Given the description of an element on the screen output the (x, y) to click on. 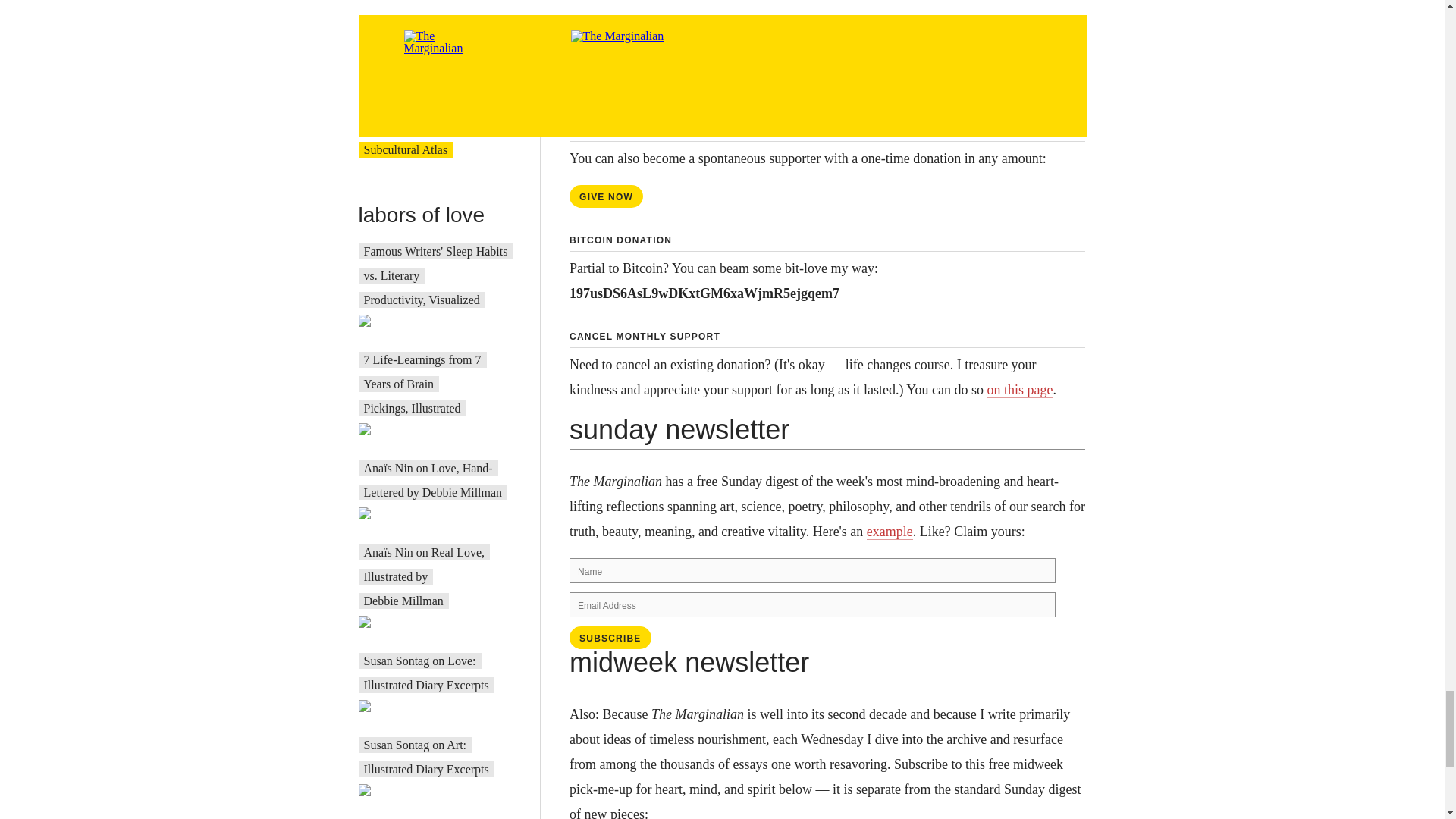
Subscribe (609, 637)
